Given the description of an element on the screen output the (x, y) to click on. 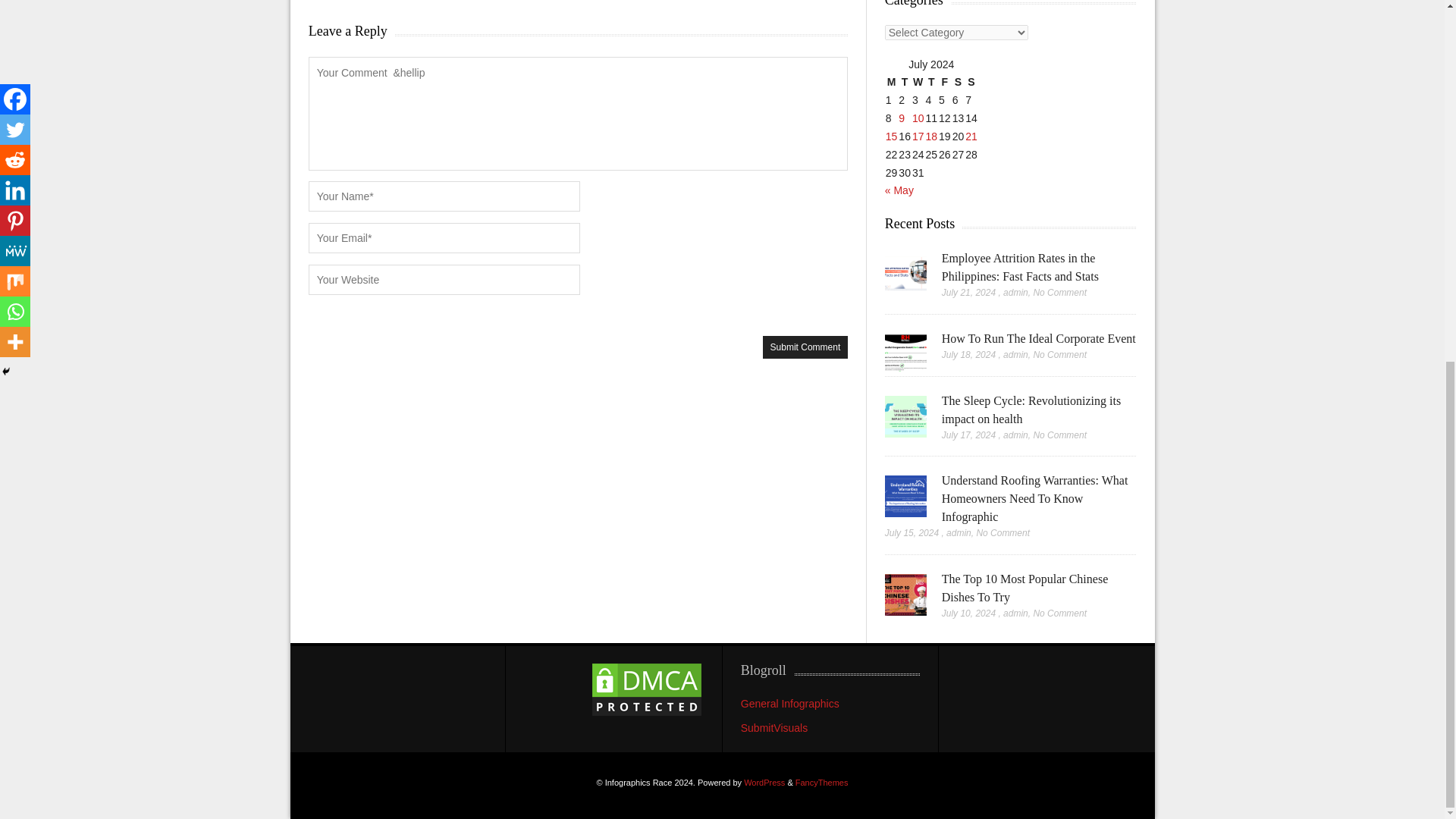
Submit Comment (805, 346)
